Given the description of an element on the screen output the (x, y) to click on. 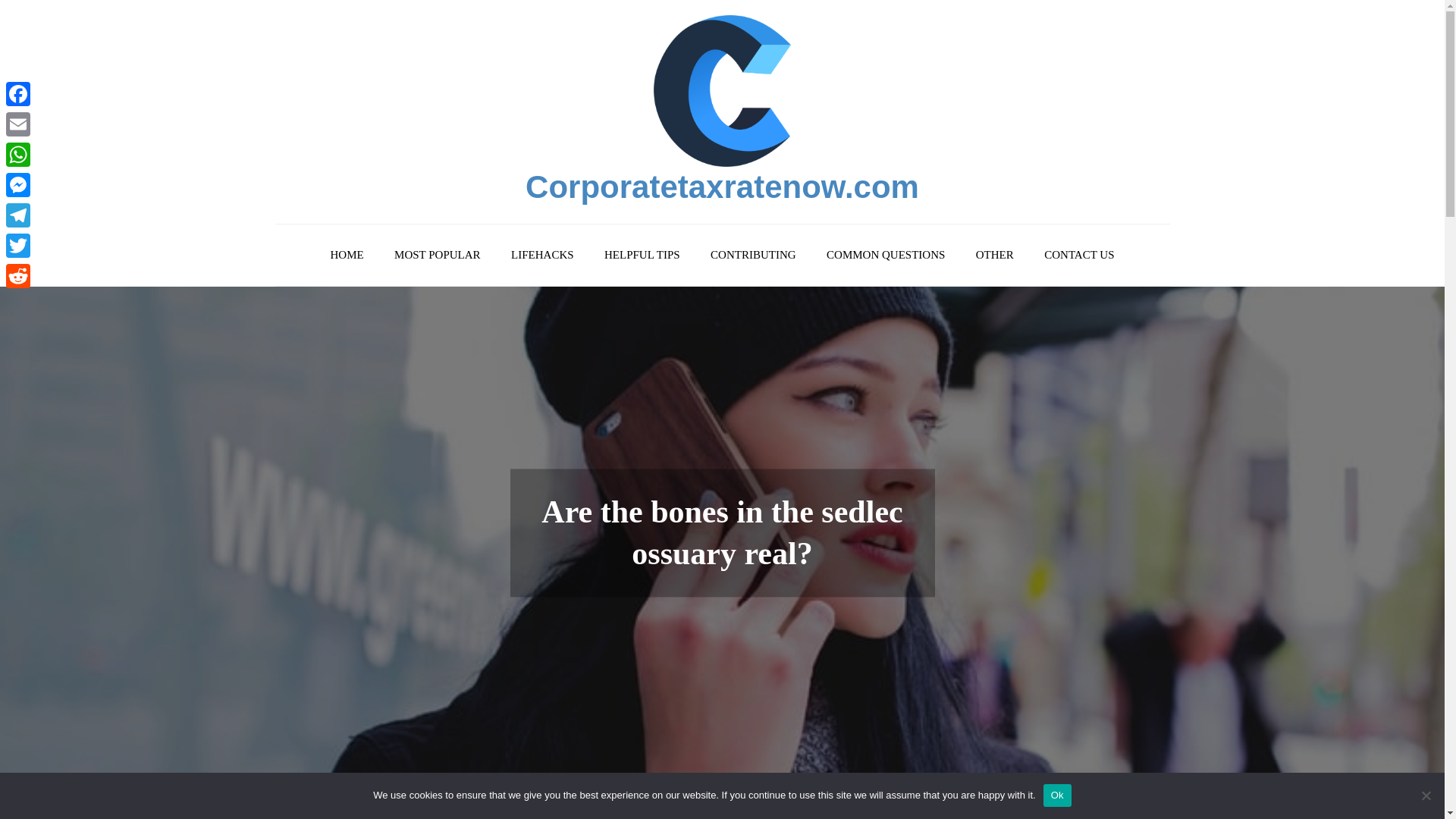
HELPFUL TIPS (642, 255)
WhatsApp (17, 154)
HOME (346, 255)
WhatsApp (17, 154)
Email (17, 123)
MOST POPULAR (437, 255)
OTHER (994, 255)
Corporatetaxratenow.com (721, 186)
Messenger (17, 184)
LIFEHACKS (542, 255)
Email (17, 123)
CONTACT US (1078, 255)
Telegram (17, 214)
COMMON QUESTIONS (885, 255)
Messenger (17, 184)
